Given the description of an element on the screen output the (x, y) to click on. 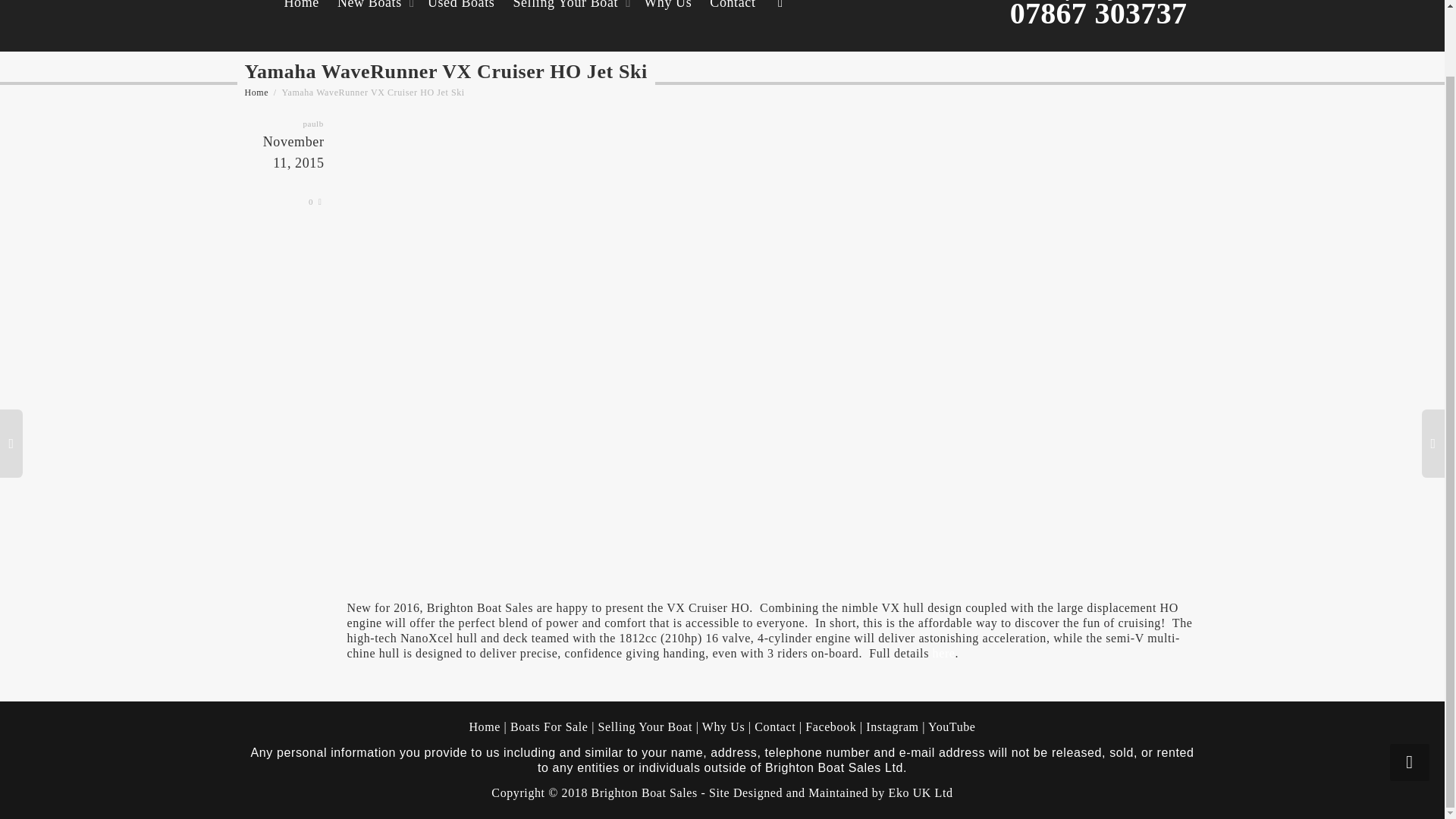
Home (484, 726)
Why Us (667, 25)
Used Boats (461, 25)
Facebook (830, 726)
November 11, 2015 (286, 163)
Used Boats (461, 25)
here (944, 653)
paulb (312, 123)
Selling Your Boat (569, 25)
Boats For Sale (549, 726)
